Given the description of an element on the screen output the (x, y) to click on. 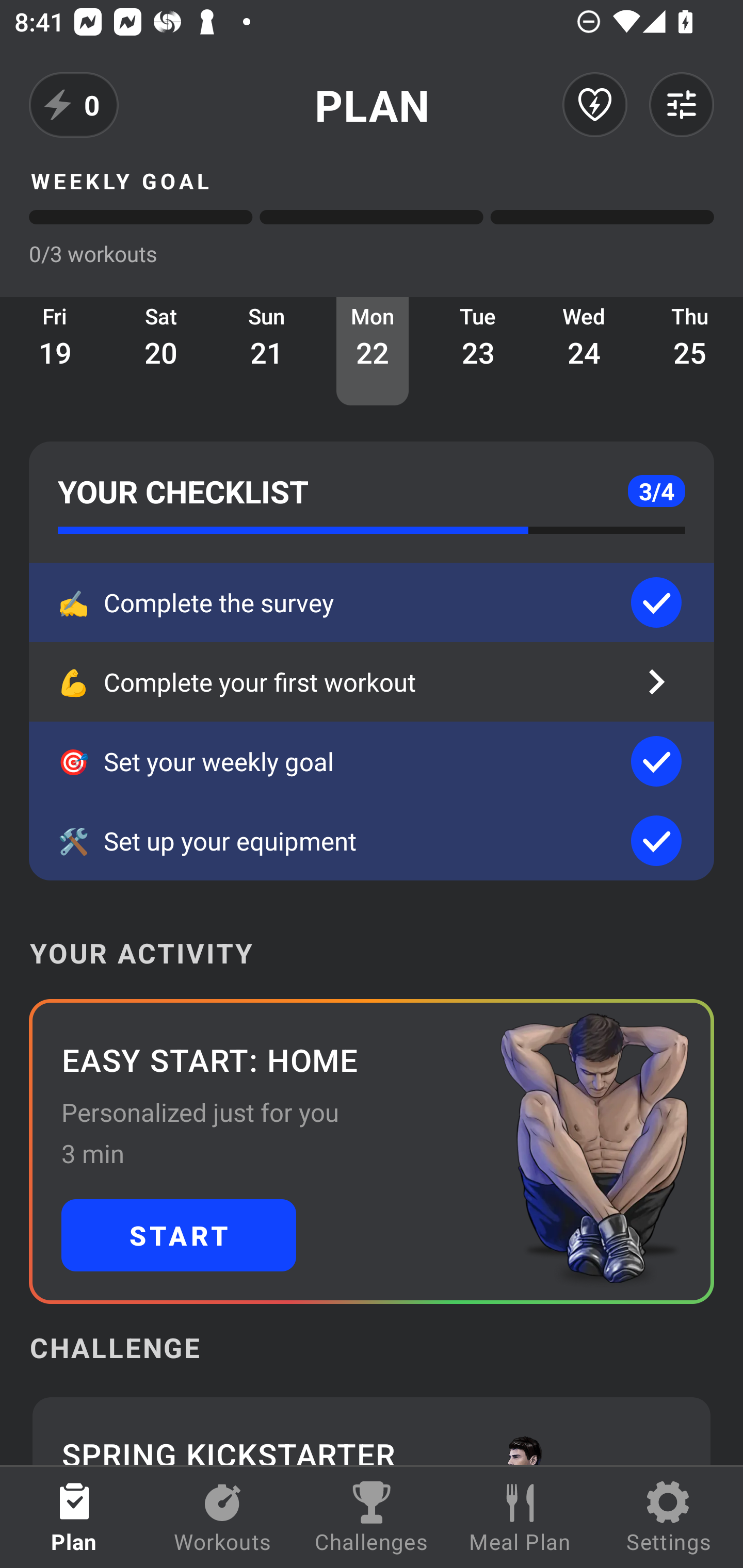
0 (73, 104)
Fri 19 (55, 351)
Sat 20 (160, 351)
Sun 21 (266, 351)
Mon 22 (372, 351)
Tue 23 (478, 351)
Wed 24 (584, 351)
Thu 25 (690, 351)
💪 Complete your first workout (371, 681)
START (178, 1235)
 Workouts  (222, 1517)
 Challenges  (371, 1517)
 Meal Plan  (519, 1517)
 Settings  (668, 1517)
